Given the description of an element on the screen output the (x, y) to click on. 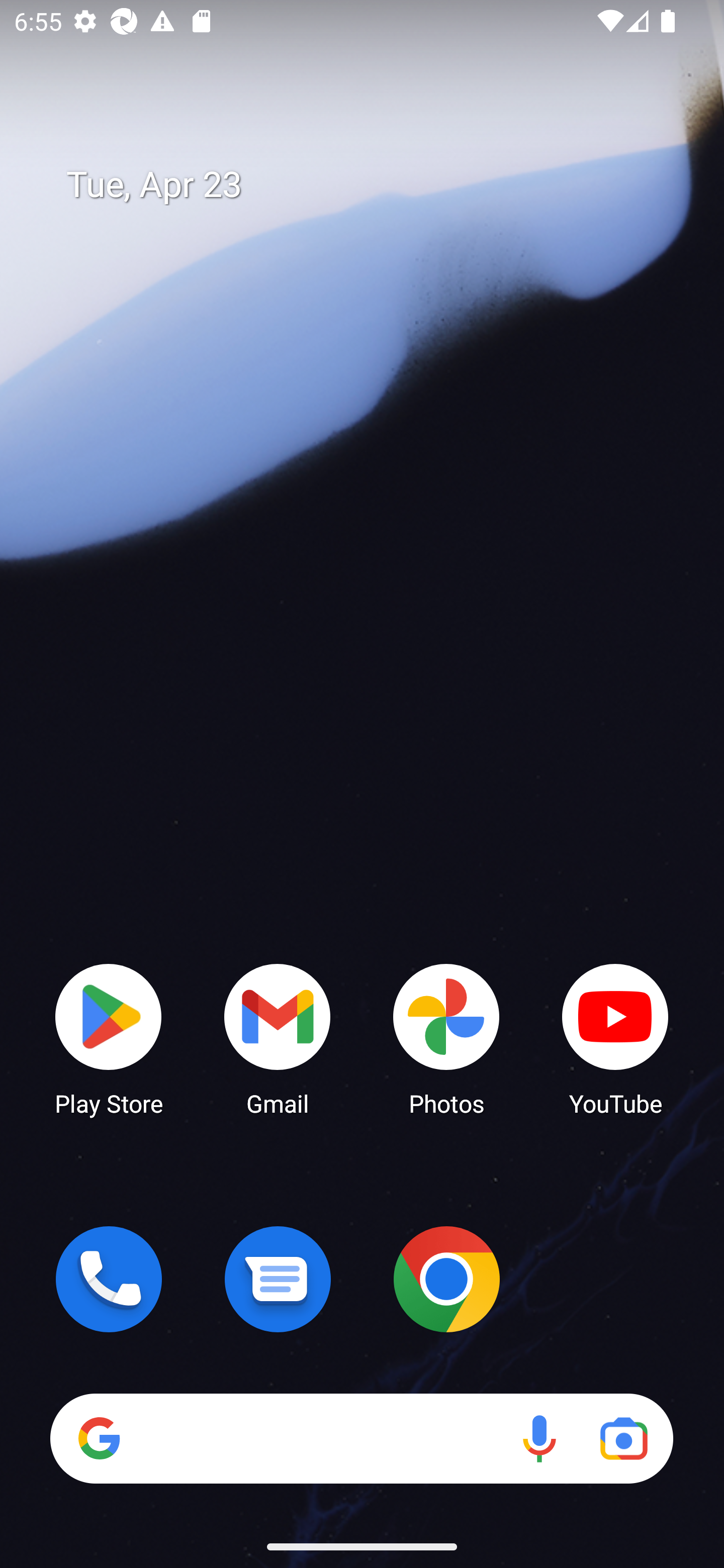
Tue, Apr 23 (375, 184)
Play Store (108, 1038)
Gmail (277, 1038)
Photos (445, 1038)
YouTube (615, 1038)
Phone (108, 1279)
Messages (277, 1279)
Chrome (446, 1279)
Search Voice search Google Lens (361, 1438)
Voice search (539, 1438)
Google Lens (623, 1438)
